Given the description of an element on the screen output the (x, y) to click on. 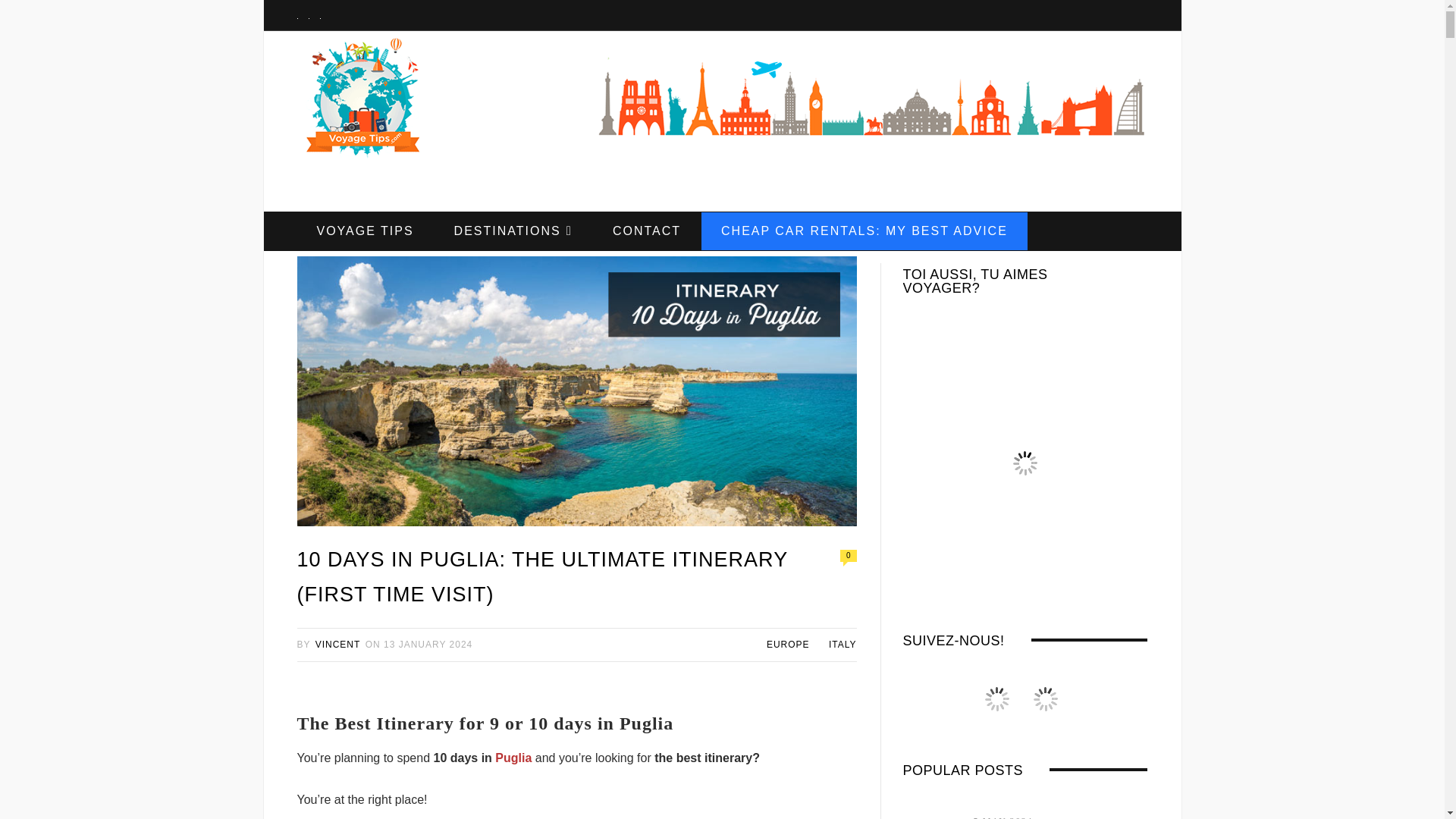
EUROPE (788, 644)
Puglia (513, 757)
VOYAGE TIPS (365, 231)
CHEAP CAR RENTALS: MY BEST ADVICE (864, 231)
ITALY (842, 644)
Voyage Tips (361, 98)
VINCENT (338, 644)
